Given the description of an element on the screen output the (x, y) to click on. 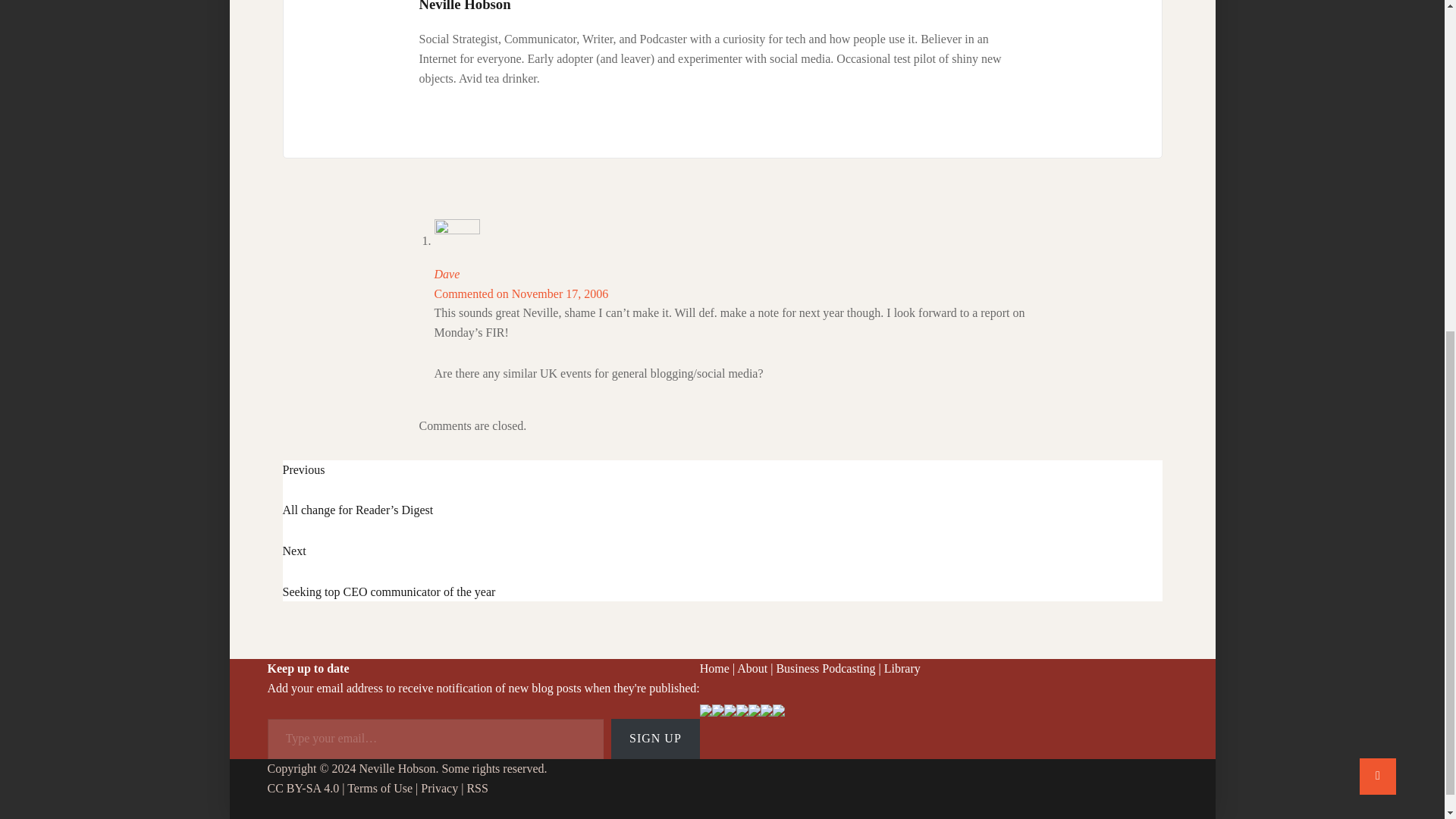
Please fill in this field. (435, 739)
Dave (446, 273)
Library (901, 667)
Home (714, 667)
CC BY-SA 4.0 (302, 788)
SIGN UP (655, 739)
Business Podcasting (825, 667)
Terms of Use (379, 788)
About (721, 571)
Commented on November 17, 2006 (751, 667)
Scroll to top (520, 293)
